Given the description of an element on the screen output the (x, y) to click on. 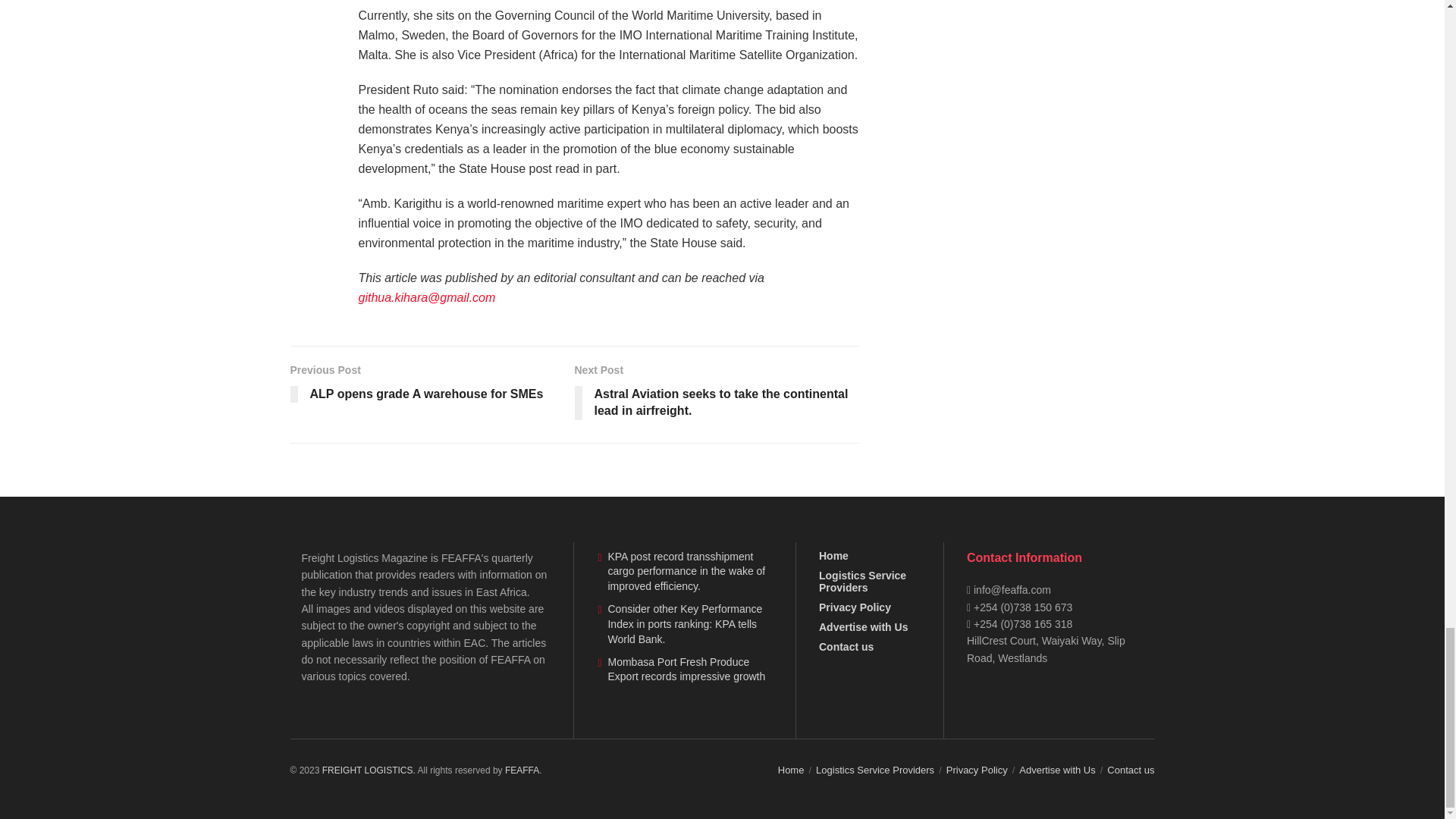
dev (521, 769)
 FREIGHT LOGISTICS (369, 769)
